Given the description of an element on the screen output the (x, y) to click on. 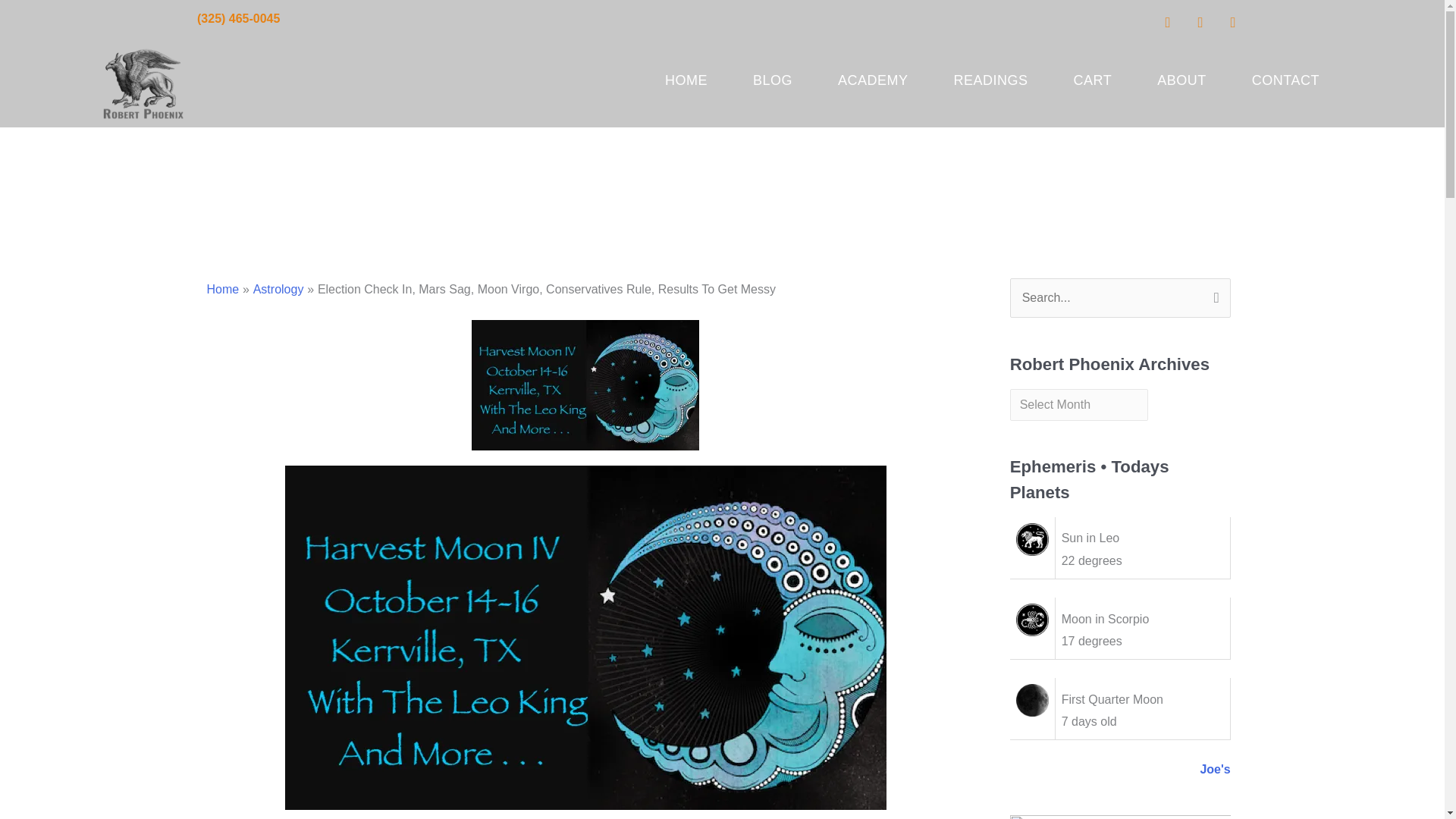
HOME (686, 80)
CONTACT (1285, 80)
Home (222, 288)
Leo (1032, 539)
Search (1213, 294)
Joe's (1214, 768)
Facebook (1167, 21)
Search (1213, 294)
ACADEMY (873, 80)
BLOG (772, 80)
